Given the description of an element on the screen output the (x, y) to click on. 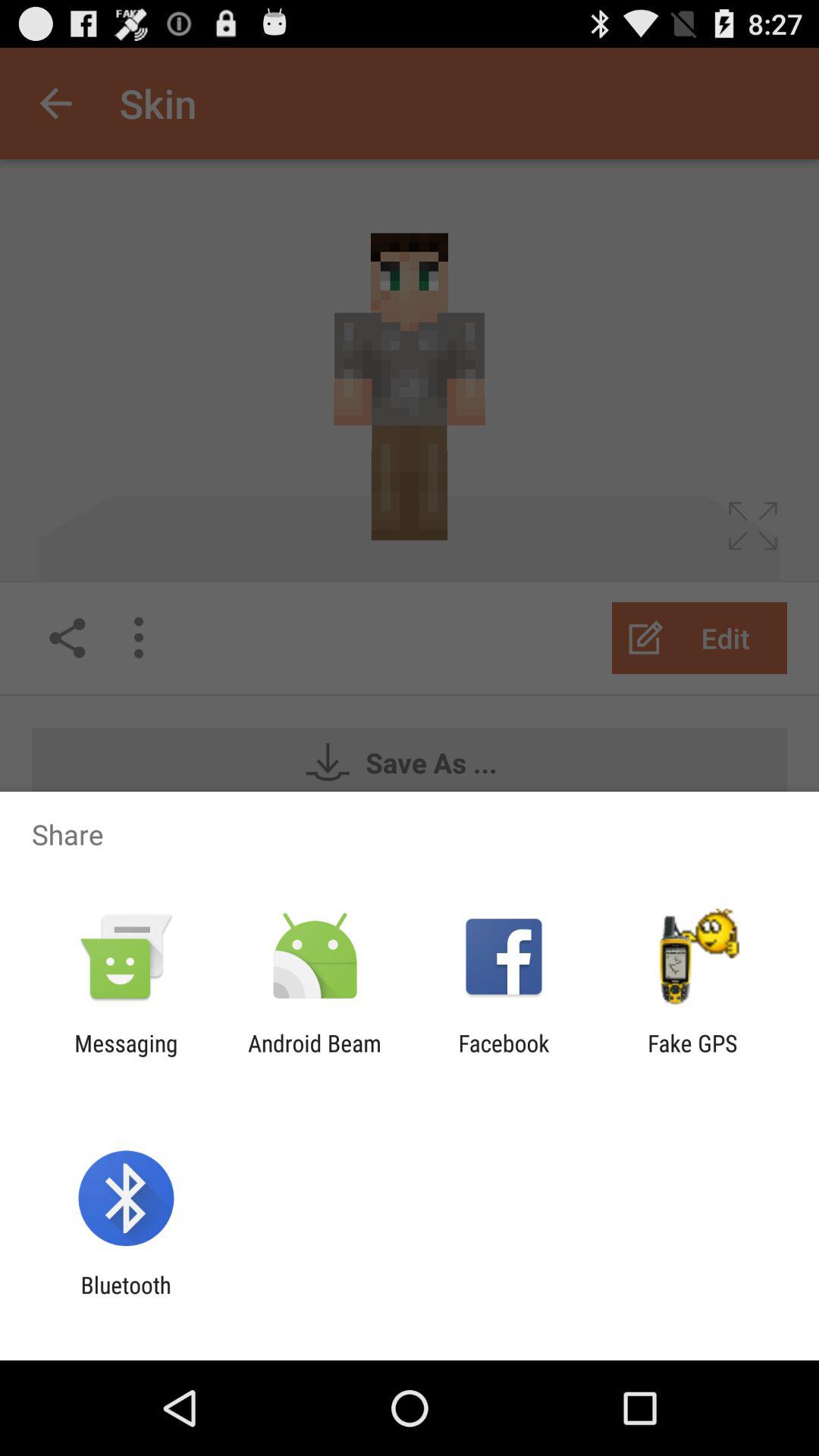
click item next to the facebook item (314, 1056)
